Given the description of an element on the screen output the (x, y) to click on. 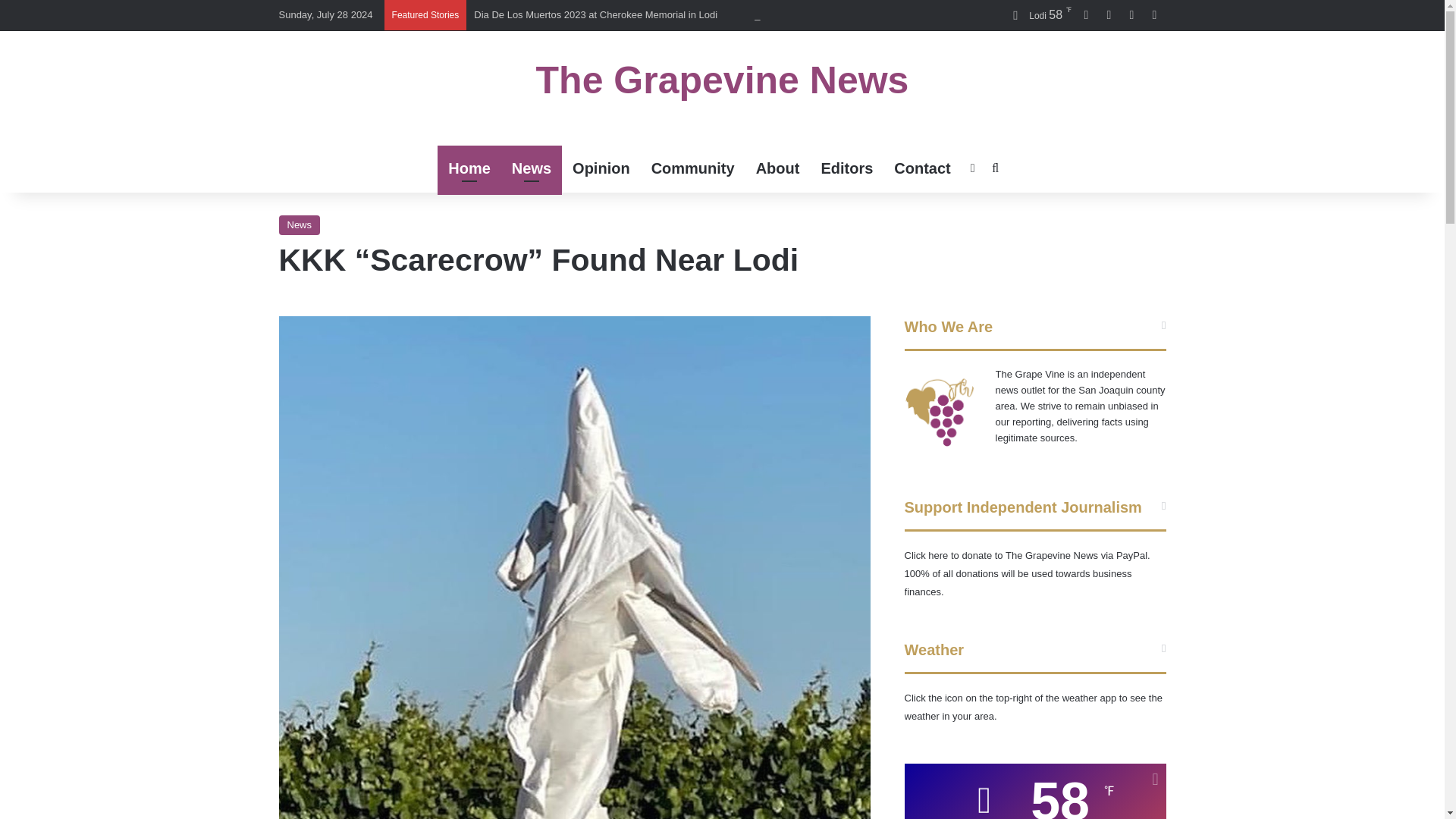
Clear Sky (1035, 15)
News (531, 167)
About (777, 167)
Home (469, 167)
News (299, 225)
Opinion (601, 167)
Community (692, 167)
The Grapevine News (721, 80)
Dia De Los Muertos 2023 at Cherokee Memorial in Lodi (595, 14)
Editors (846, 167)
The Grapevine News (721, 80)
Contact (921, 167)
